Given the description of an element on the screen output the (x, y) to click on. 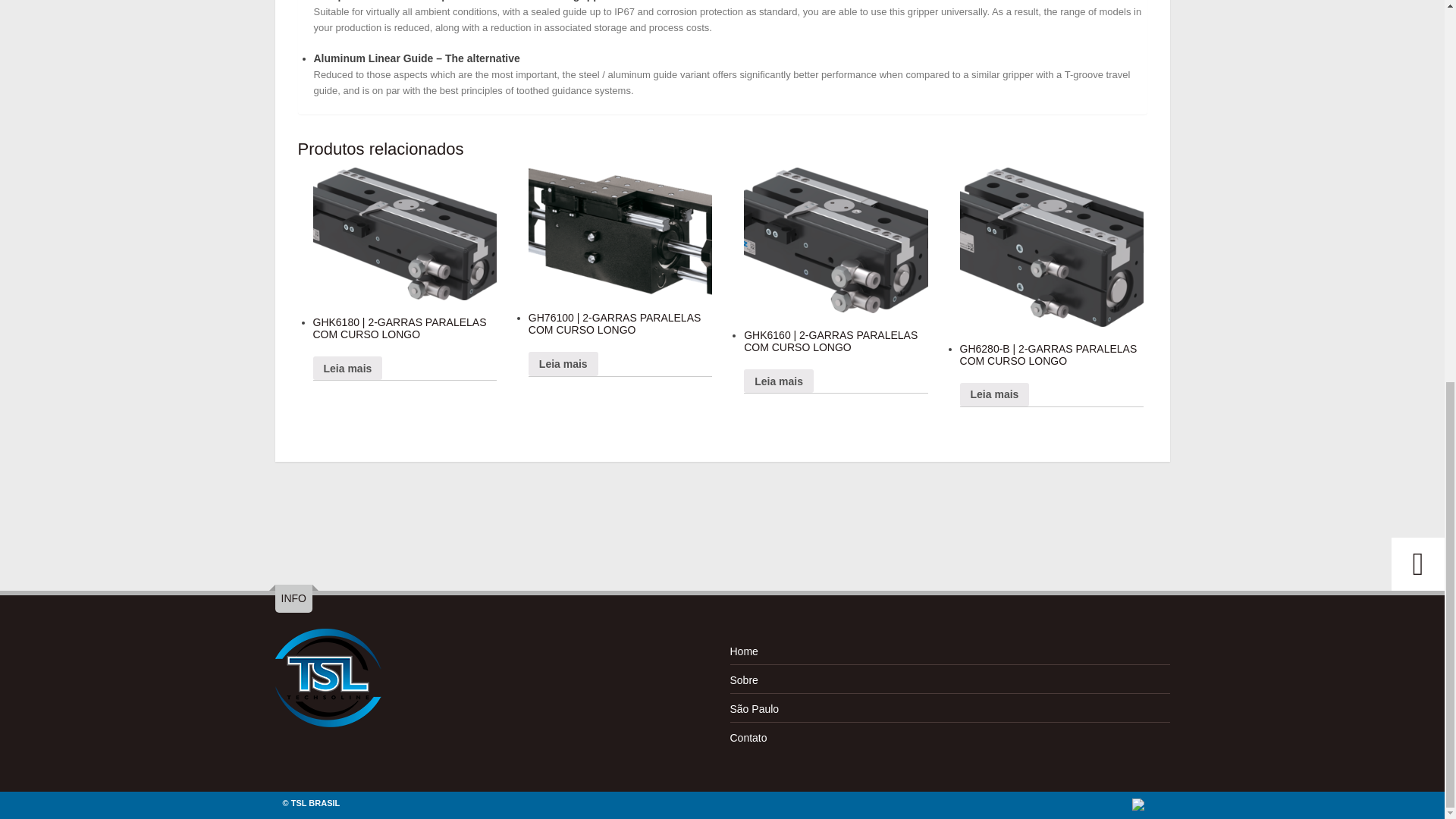
Leia mais (347, 368)
